Given the description of an element on the screen output the (x, y) to click on. 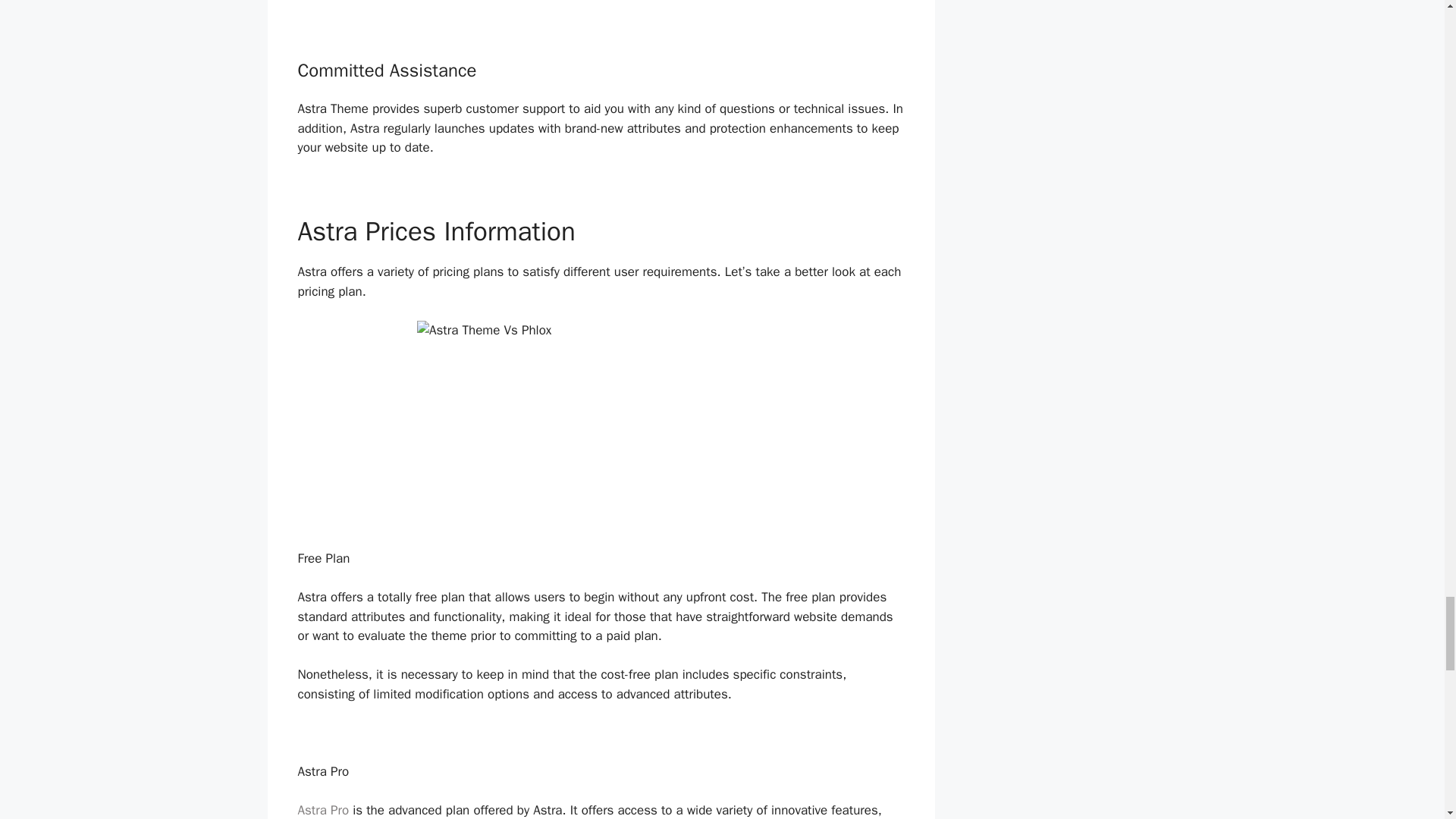
Astra Pro (323, 810)
